Given the description of an element on the screen output the (x, y) to click on. 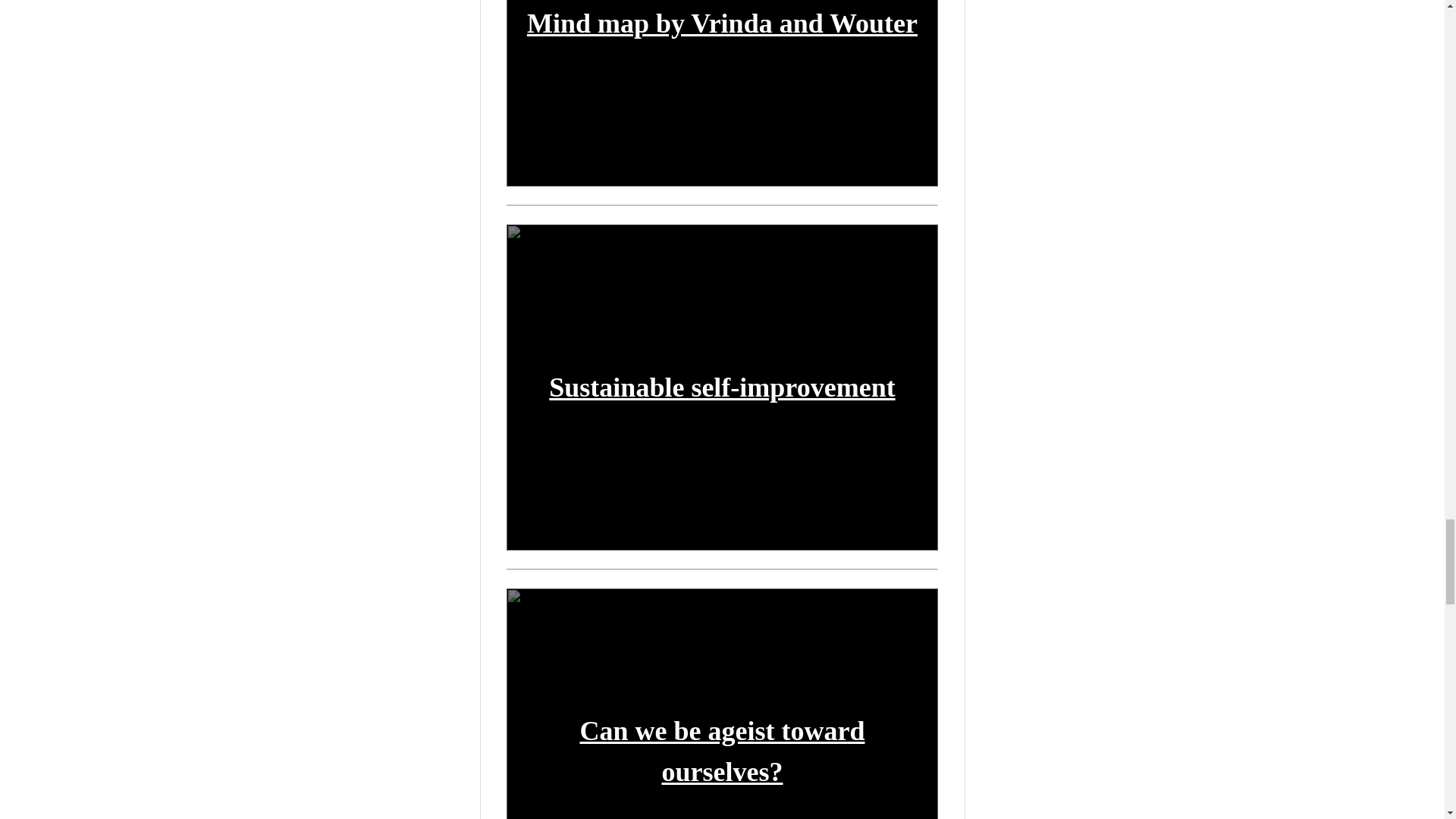
Mind map by Vrinda and Wouter (722, 23)
